Given the description of an element on the screen output the (x, y) to click on. 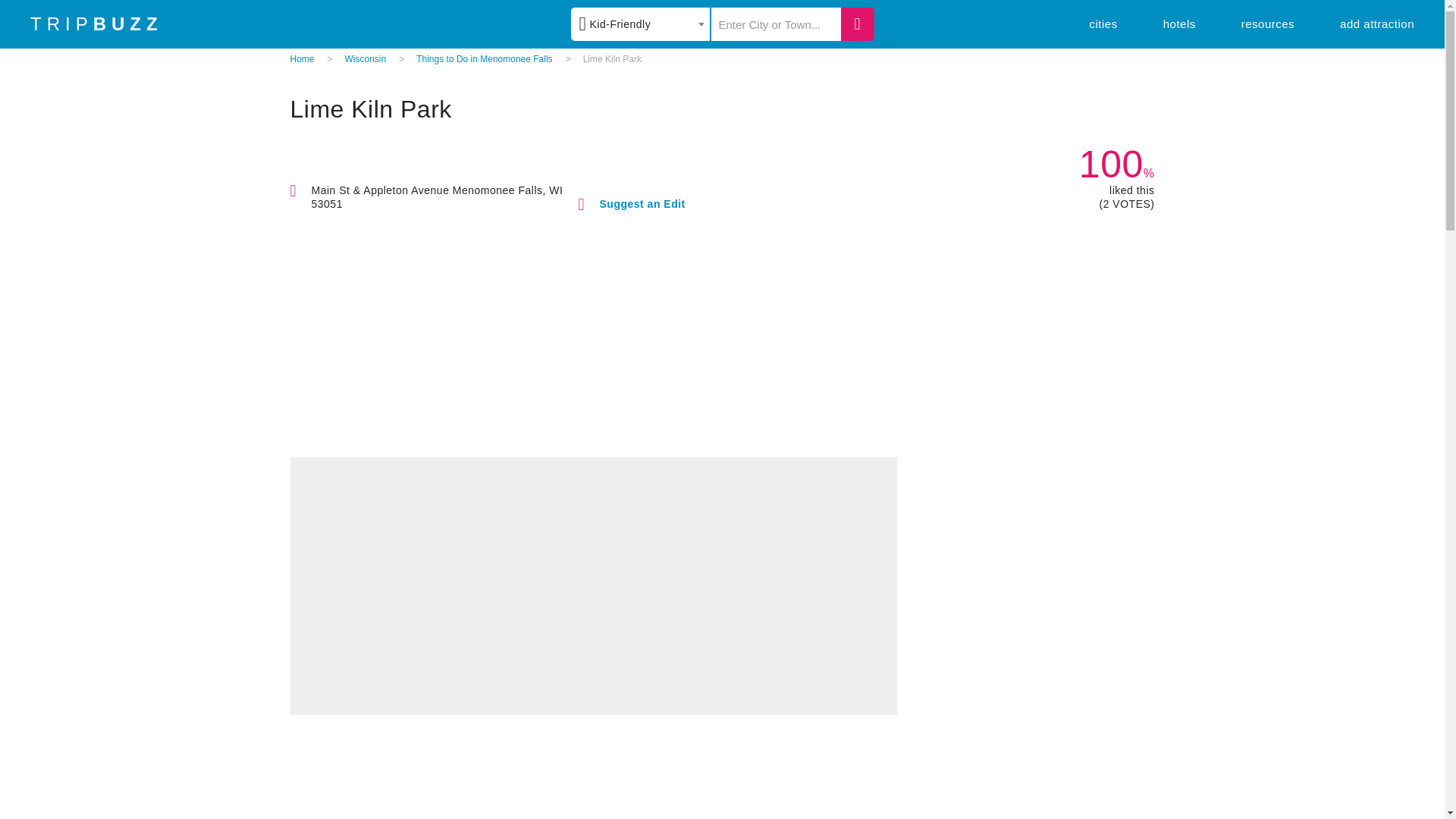
Things to Do in Menomonee Falls (483, 59)
resources (1267, 23)
Kid-Friendly (639, 24)
Login (832, 130)
Wisconsin (366, 59)
Suggest an Edit (641, 203)
cities (1103, 23)
Home (301, 59)
hotels (1179, 23)
hotels (1179, 23)
